Given the description of an element on the screen output the (x, y) to click on. 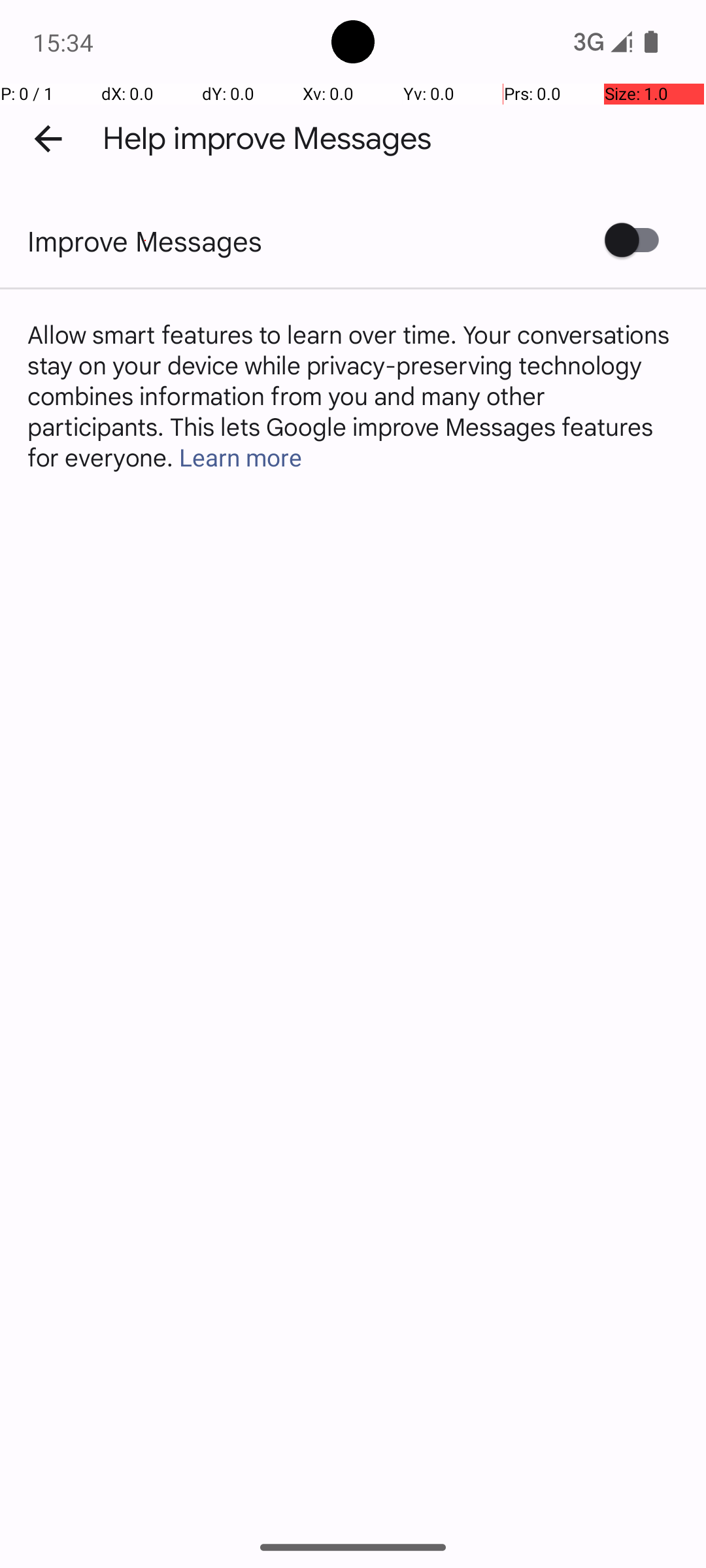
Allow smart features to learn over time. Your conversations stay on your device while privacy-preserving technology combines information from you and many other participants. This lets Google improve Messages features for everyone. Learn more Element type: android.widget.TextView (353, 395)
Help improve Messages Element type: android.widget.TextView (267, 138)
Improve Messages Element type: android.widget.TextView (144, 240)
